Given the description of an element on the screen output the (x, y) to click on. 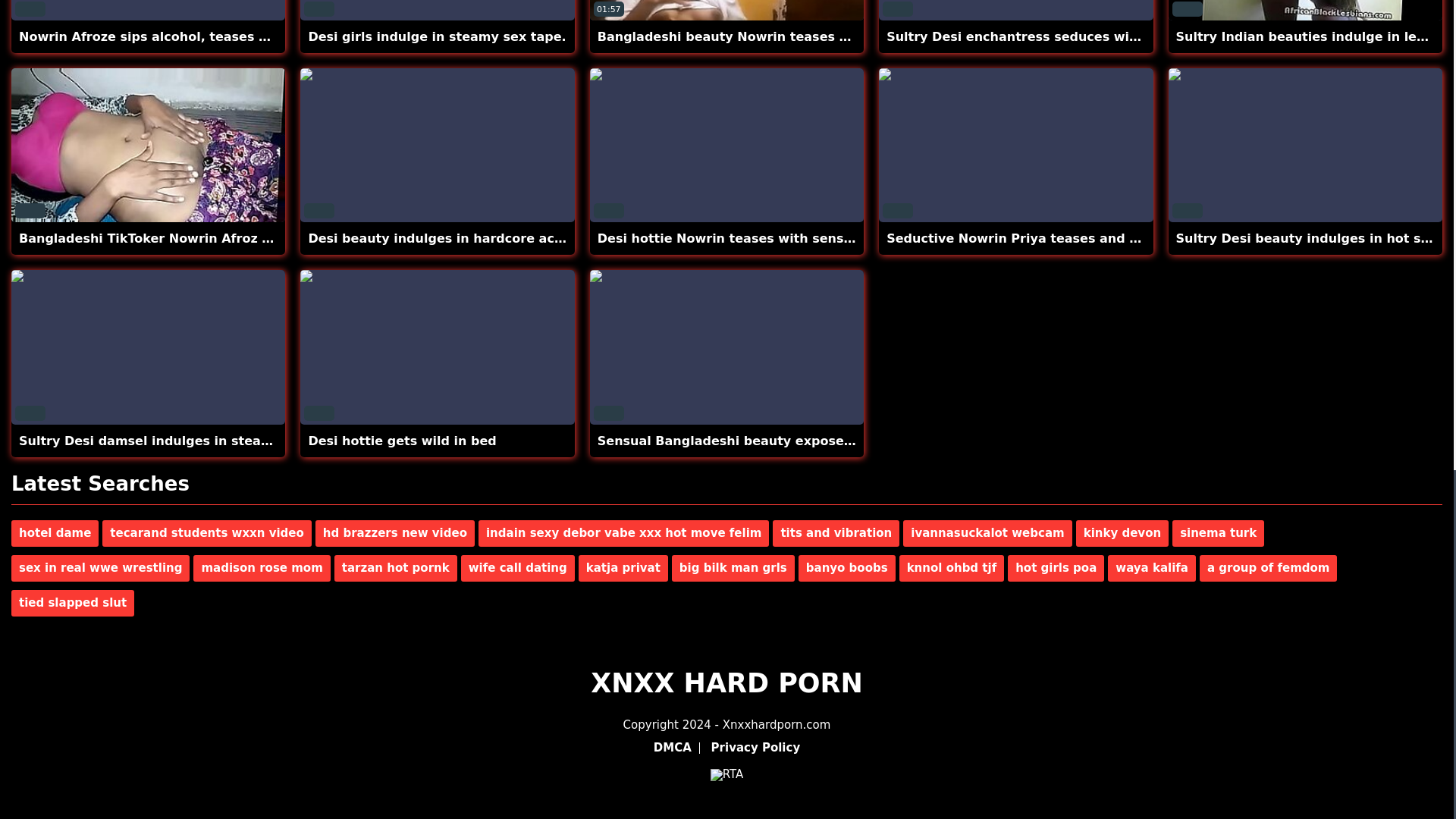
01:57 (726, 10)
Sultry Desi enchantress seduces with sensuality. (1053, 36)
Desi girls indulge in steamy sex tape. (436, 36)
